Given the description of an element on the screen output the (x, y) to click on. 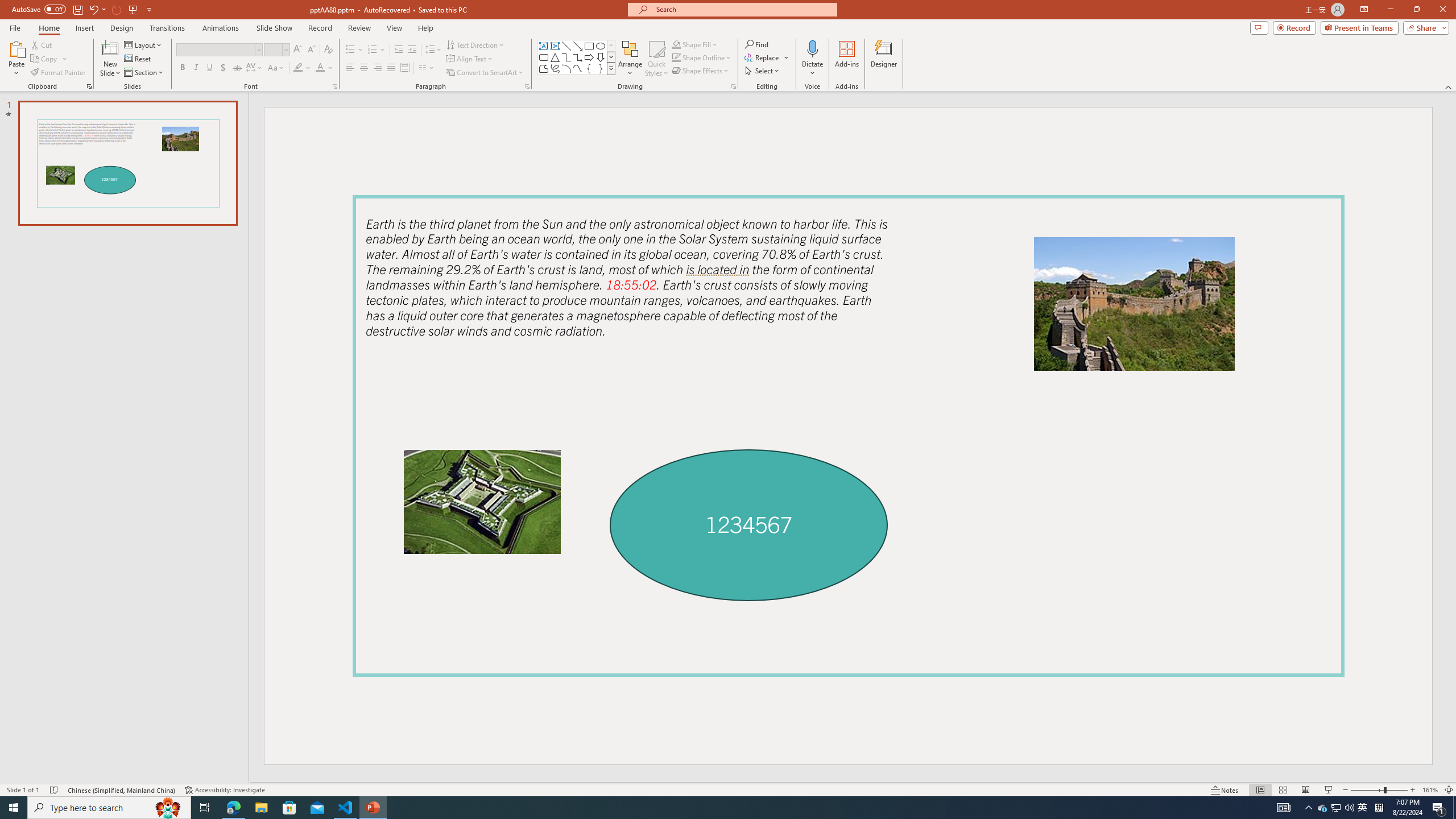
Shape Outline Teal, Accent 1 (675, 56)
